Given the description of an element on the screen output the (x, y) to click on. 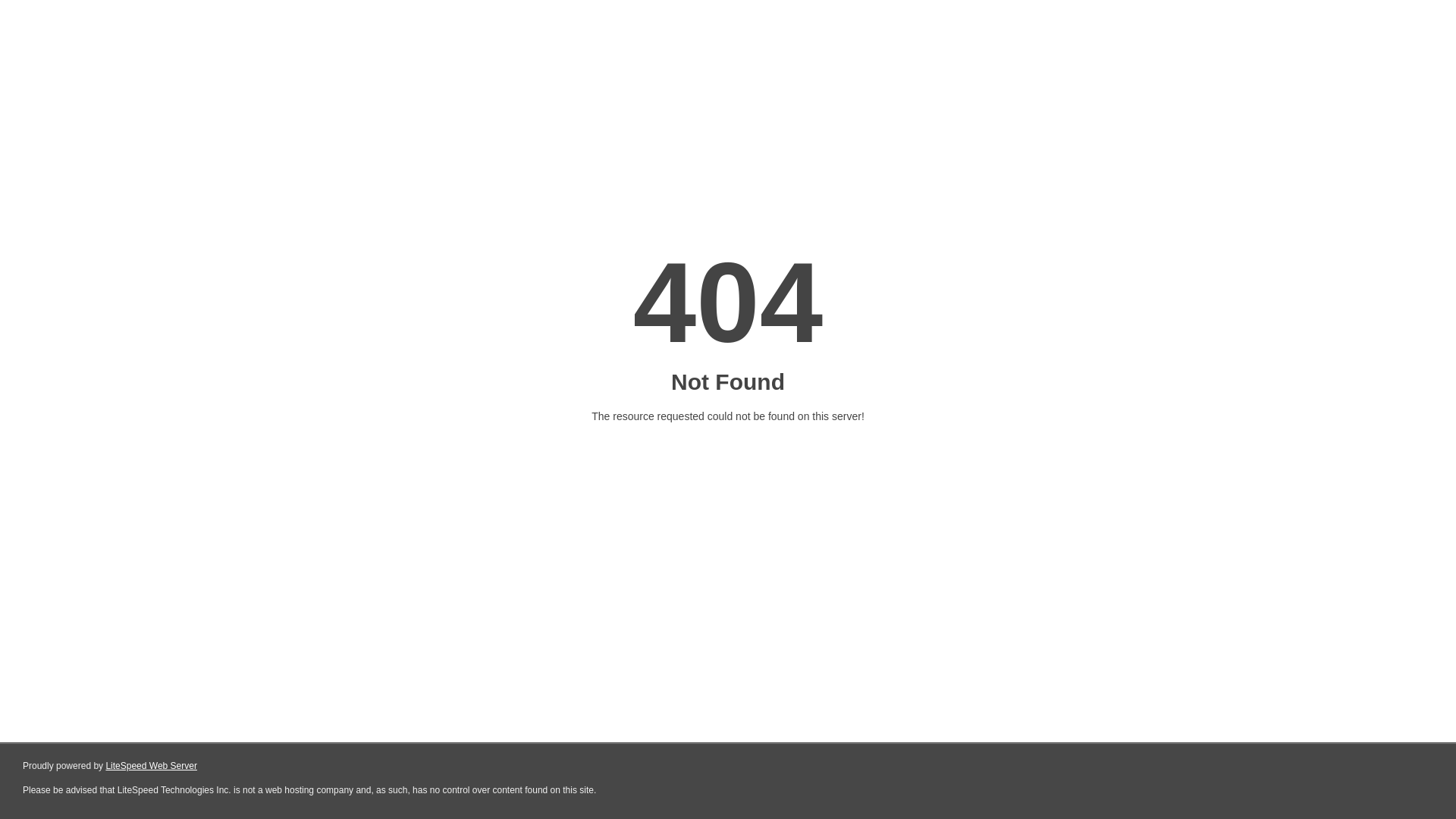
LiteSpeed Web Server Element type: text (151, 765)
